Given the description of an element on the screen output the (x, y) to click on. 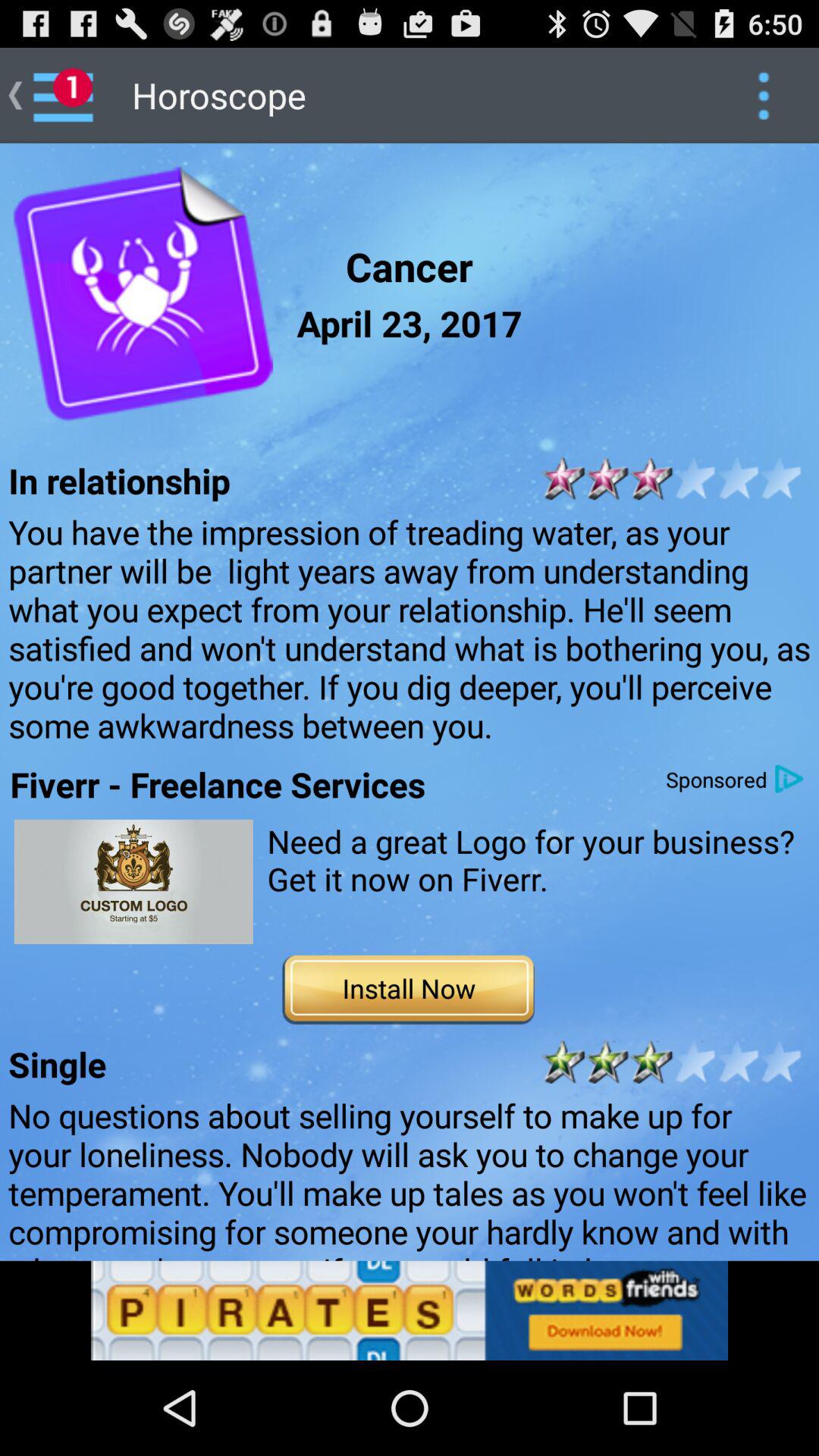
click to go to fiverr app (133, 881)
